Given the description of an element on the screen output the (x, y) to click on. 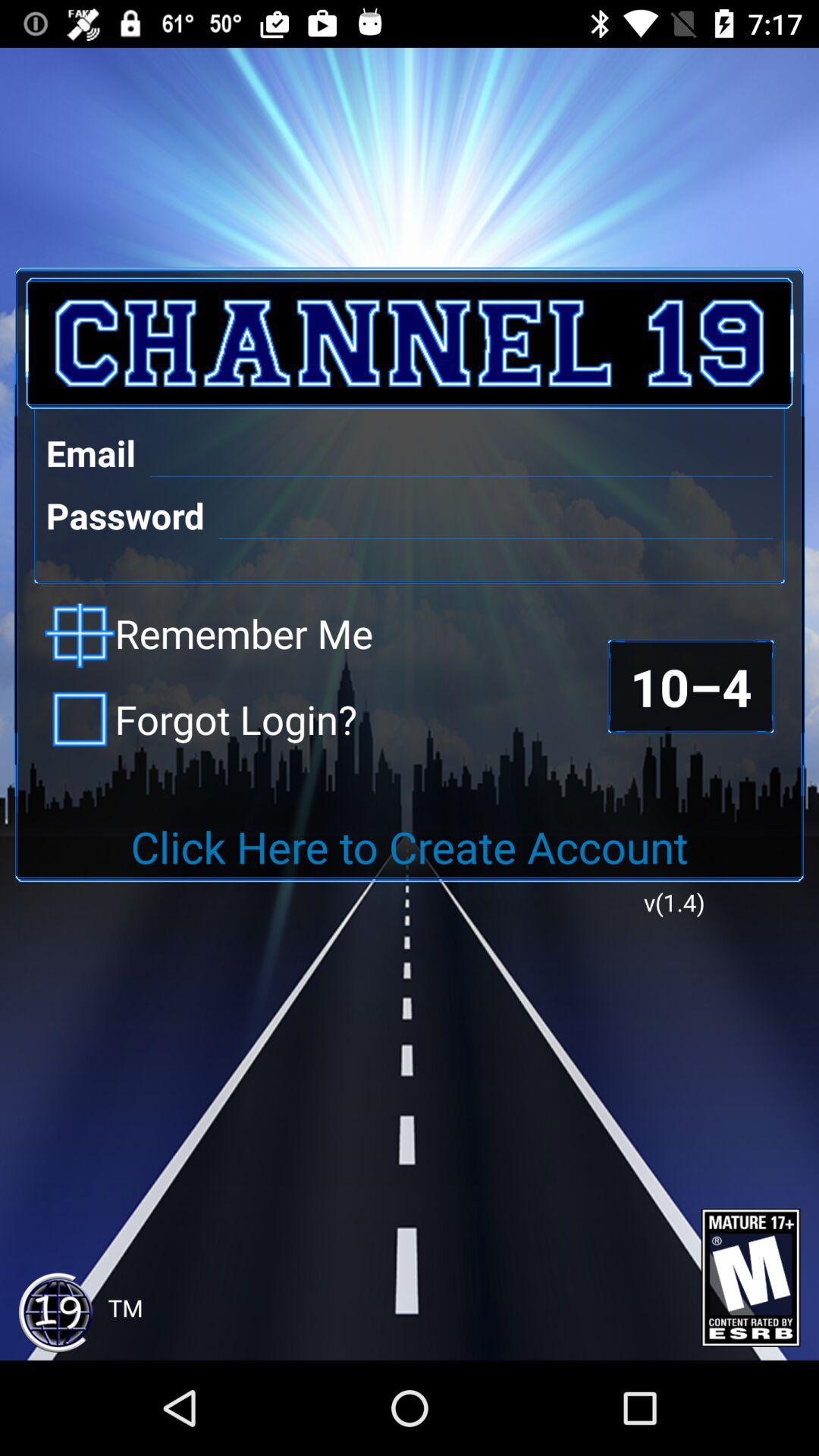
launch the remember me checkbox (208, 635)
